Given the description of an element on the screen output the (x, y) to click on. 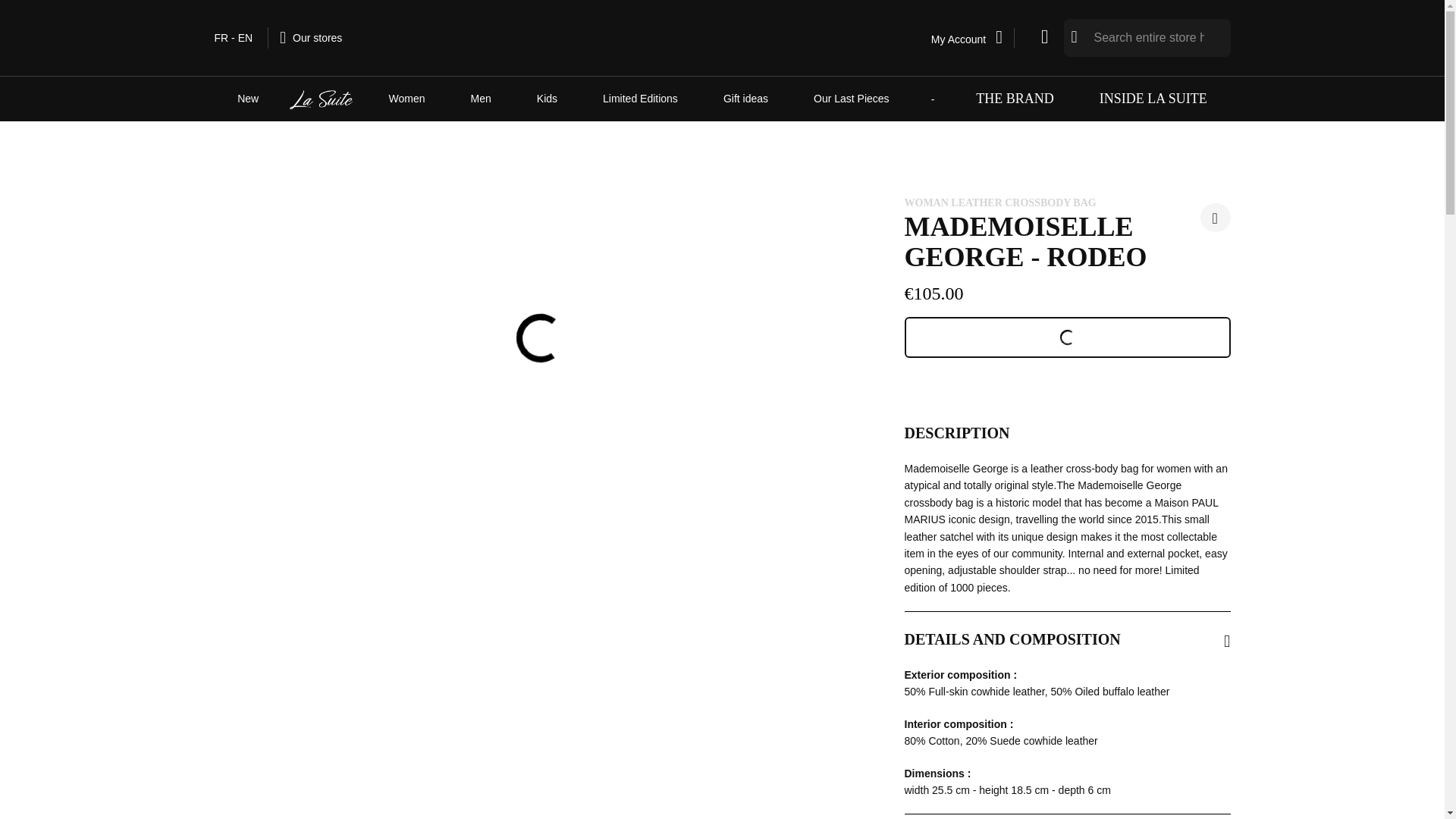
Search (1073, 36)
La Suite (323, 99)
EN (244, 37)
My Account (972, 37)
FR (221, 37)
New (247, 98)
Women (407, 98)
Search (1073, 36)
Our stores (310, 37)
New window to Paul Marius stores (310, 37)
New (247, 98)
